Given the description of an element on the screen output the (x, y) to click on. 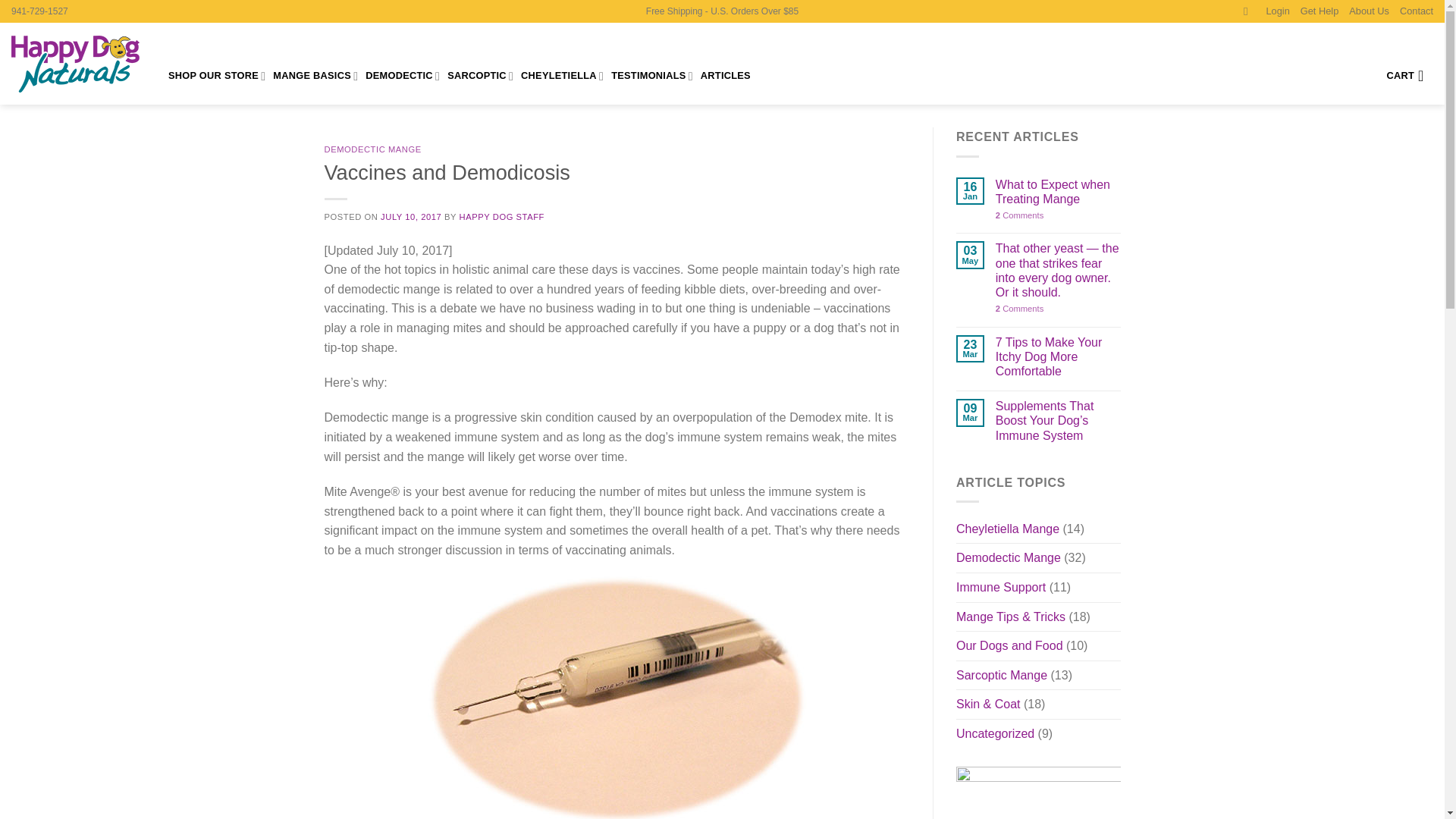
Get Help (1319, 11)
Happy Dog Naturals - Treating Mange Naturally (78, 64)
DEMODECTIC (402, 75)
MANGE BASICS (315, 75)
SARCOPTIC (479, 75)
CHEYLETIELLA (562, 75)
Cart (1409, 75)
About Us (1369, 11)
7 Tips to Make Your Itchy Dog More Comfortable (1058, 356)
Login (1276, 11)
